Given the description of an element on the screen output the (x, y) to click on. 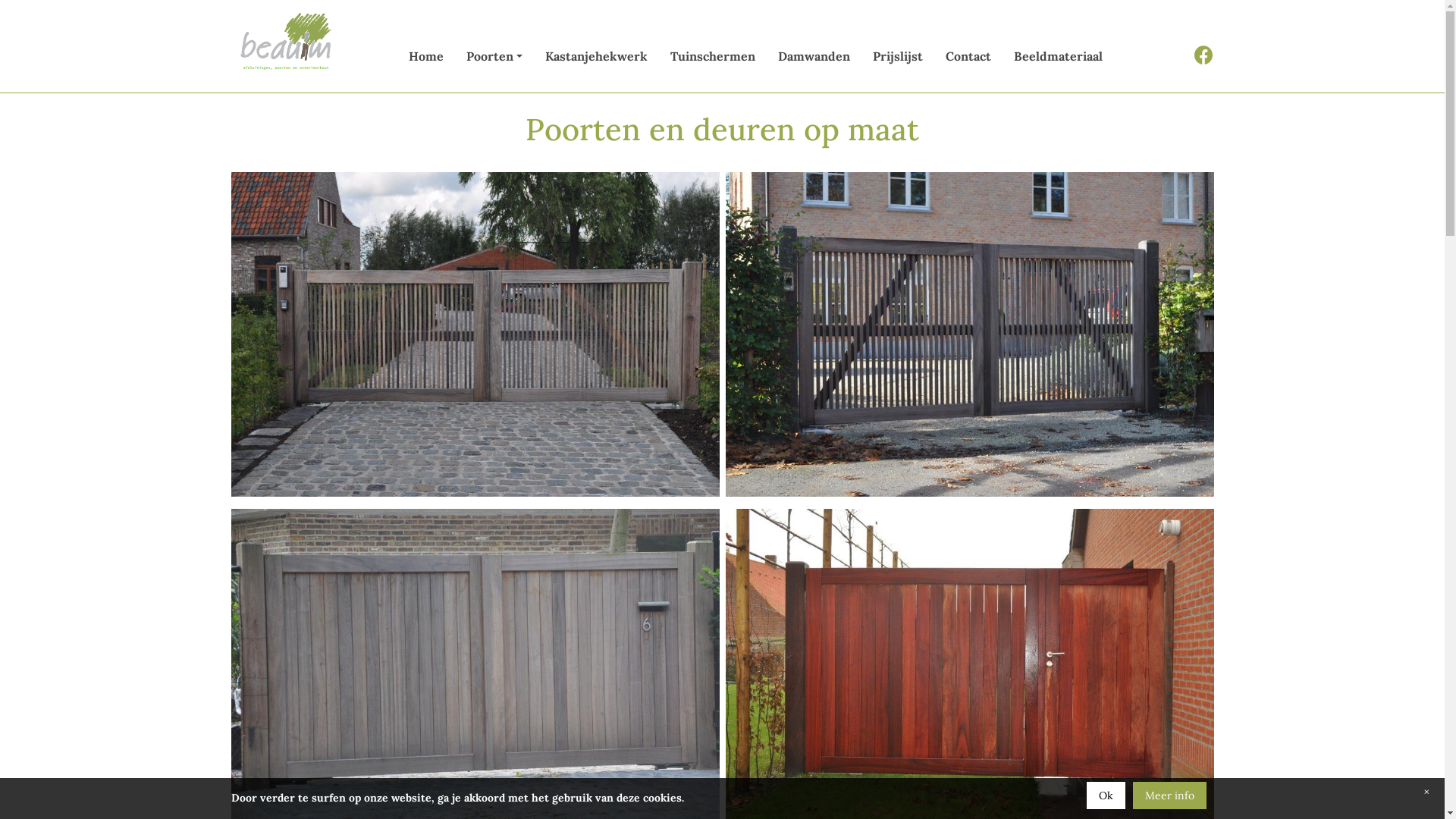
Kastanjehekwerk Element type: text (595, 56)
Contact Element type: text (968, 56)
Meer info Element type: text (1169, 795)
Tuinschermen Element type: text (712, 56)
Prijslijst Element type: text (897, 56)
facebook link Element type: hover (1203, 57)
victex Element type: hover (287, 43)
Beeldmateriaal Element type: text (1057, 56)
Home Element type: text (426, 56)
Damwanden Element type: text (813, 56)
Ok Element type: text (1104, 795)
Poorten Element type: text (494, 56)
